Given the description of an element on the screen output the (x, y) to click on. 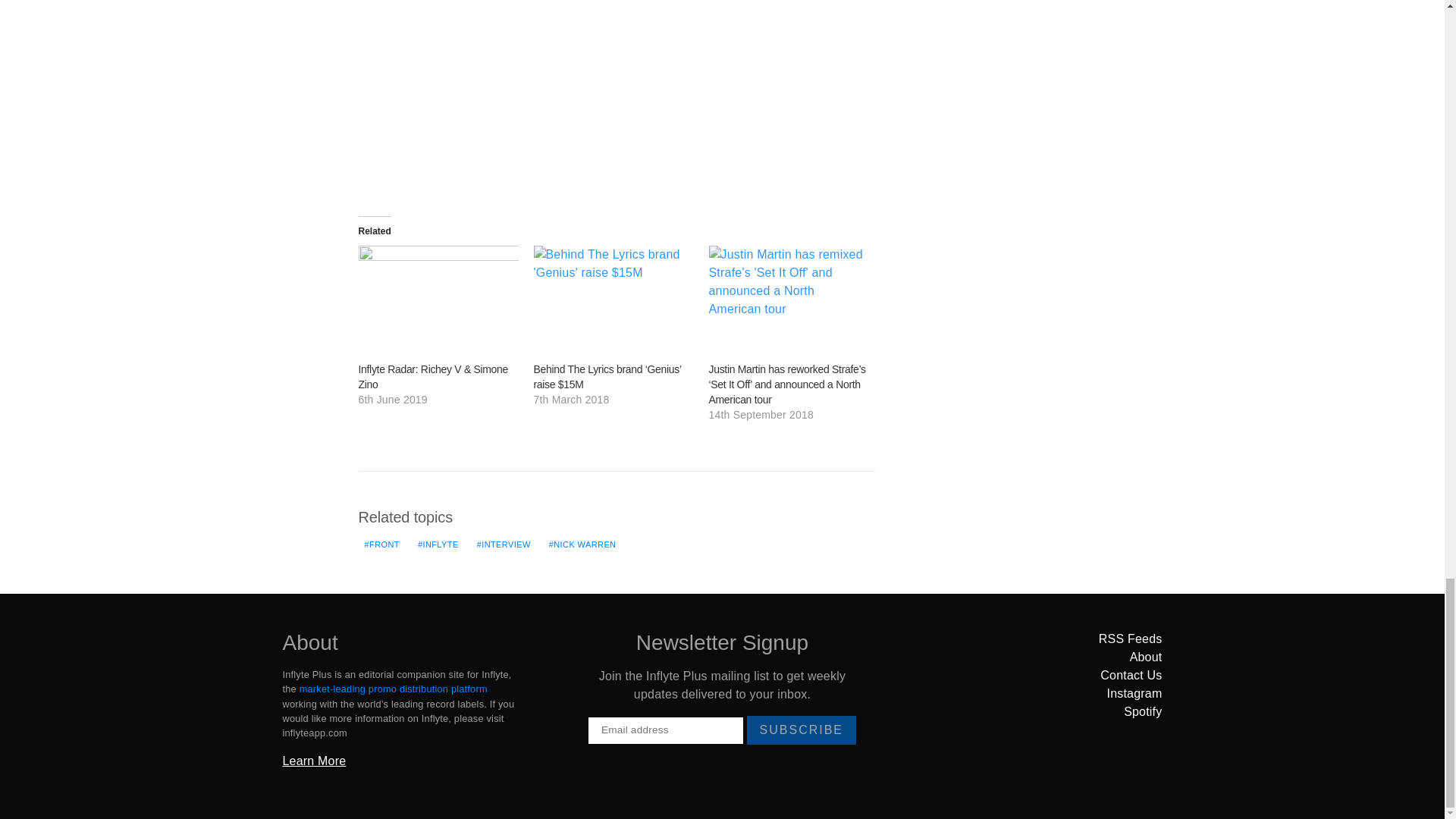
Subscribe (801, 729)
